Given the description of an element on the screen output the (x, y) to click on. 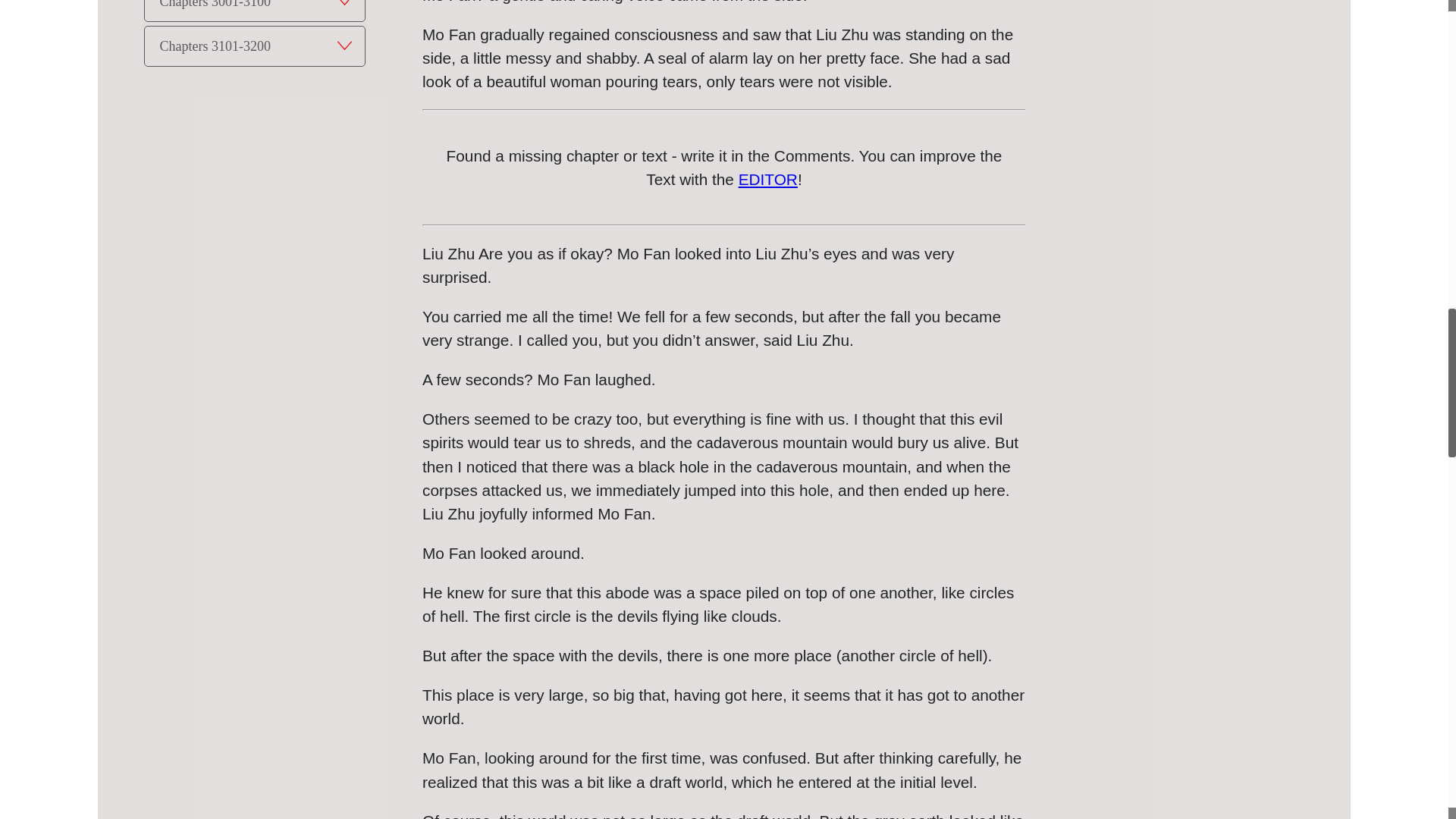
EDITOR (767, 179)
